Given the description of an element on the screen output the (x, y) to click on. 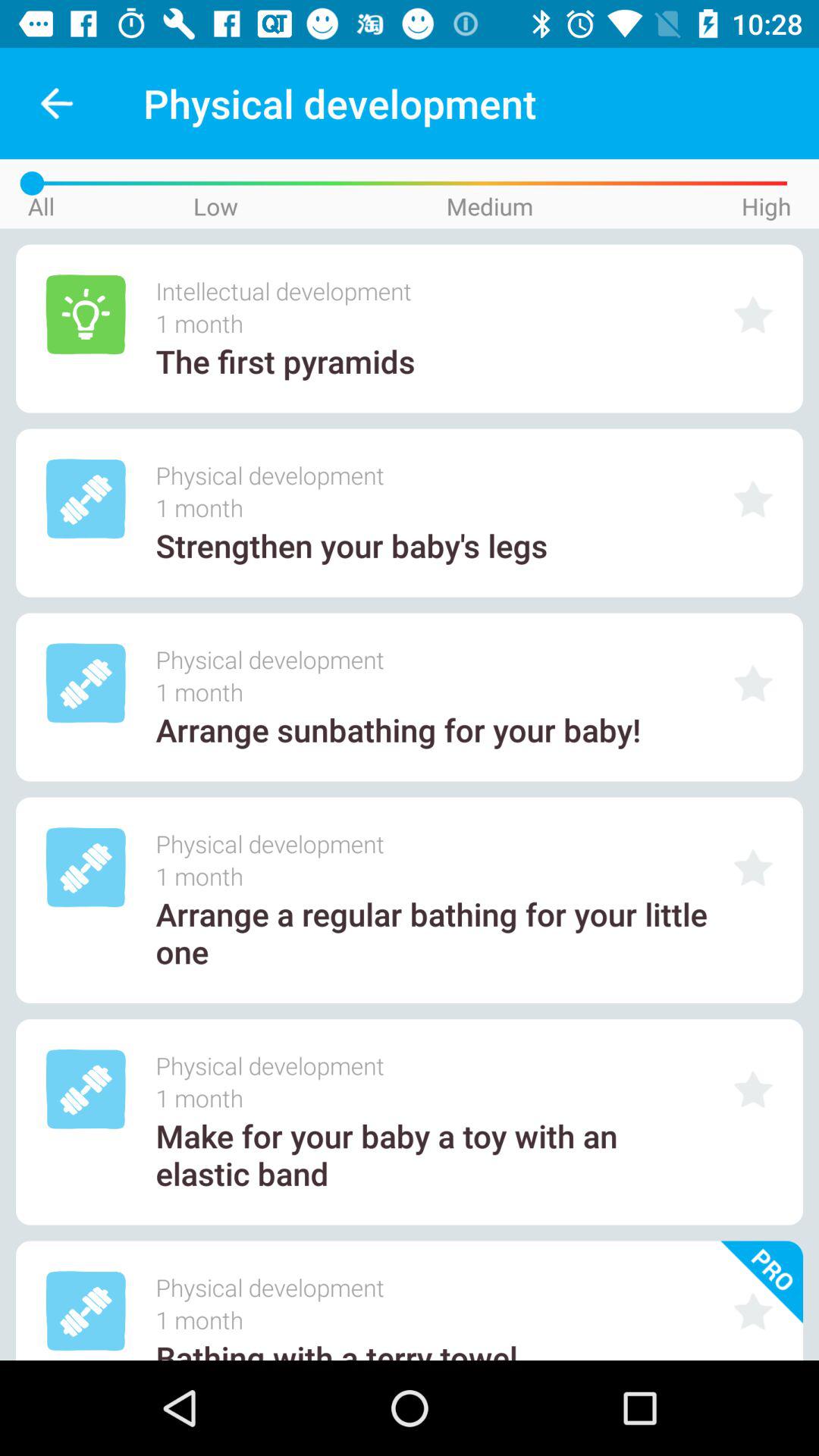
complete task (753, 683)
